Given the description of an element on the screen output the (x, y) to click on. 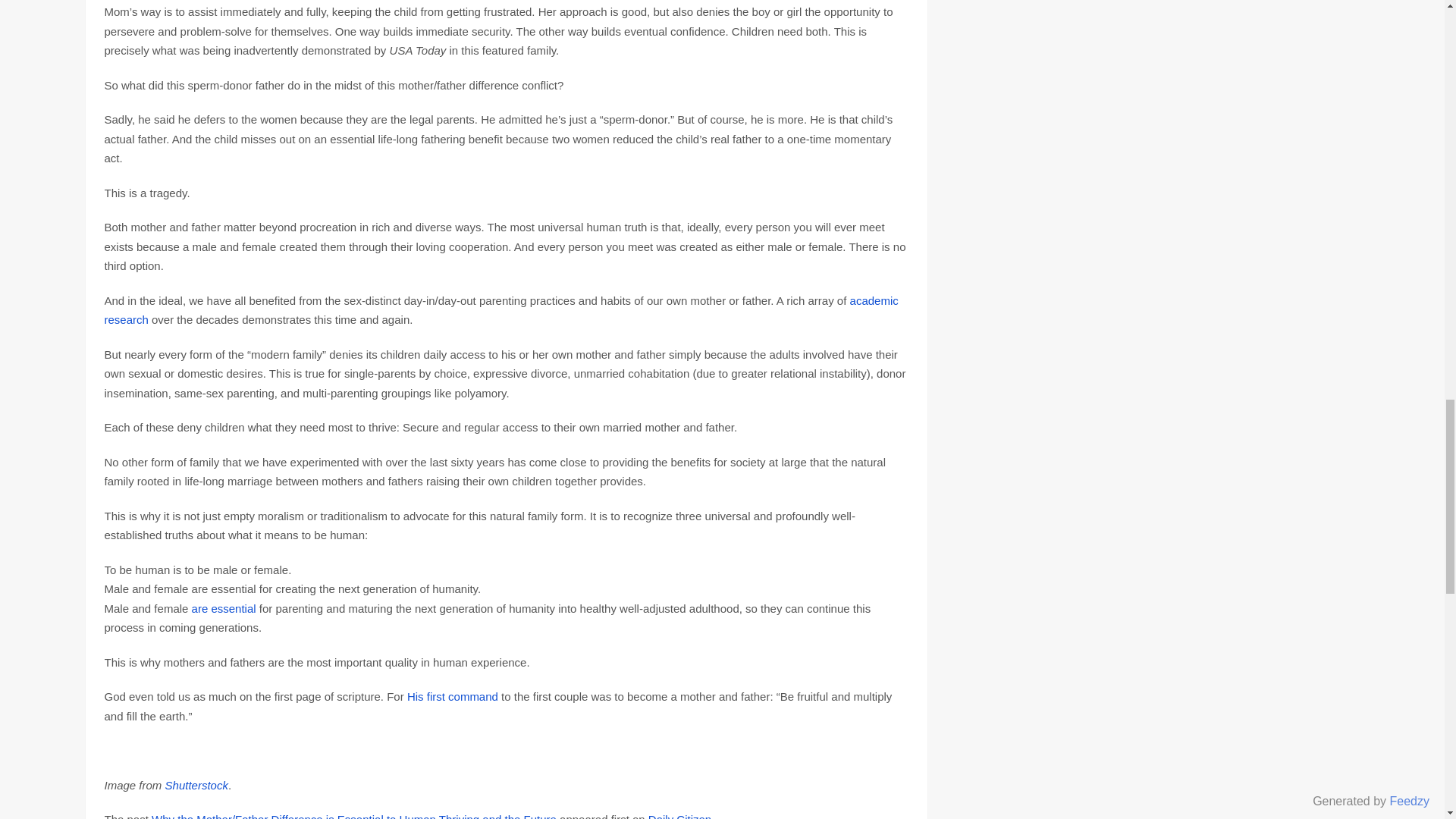
academic research (501, 310)
are essential (224, 608)
Shutterstock (196, 784)
His first command (452, 696)
